Given the description of an element on the screen output the (x, y) to click on. 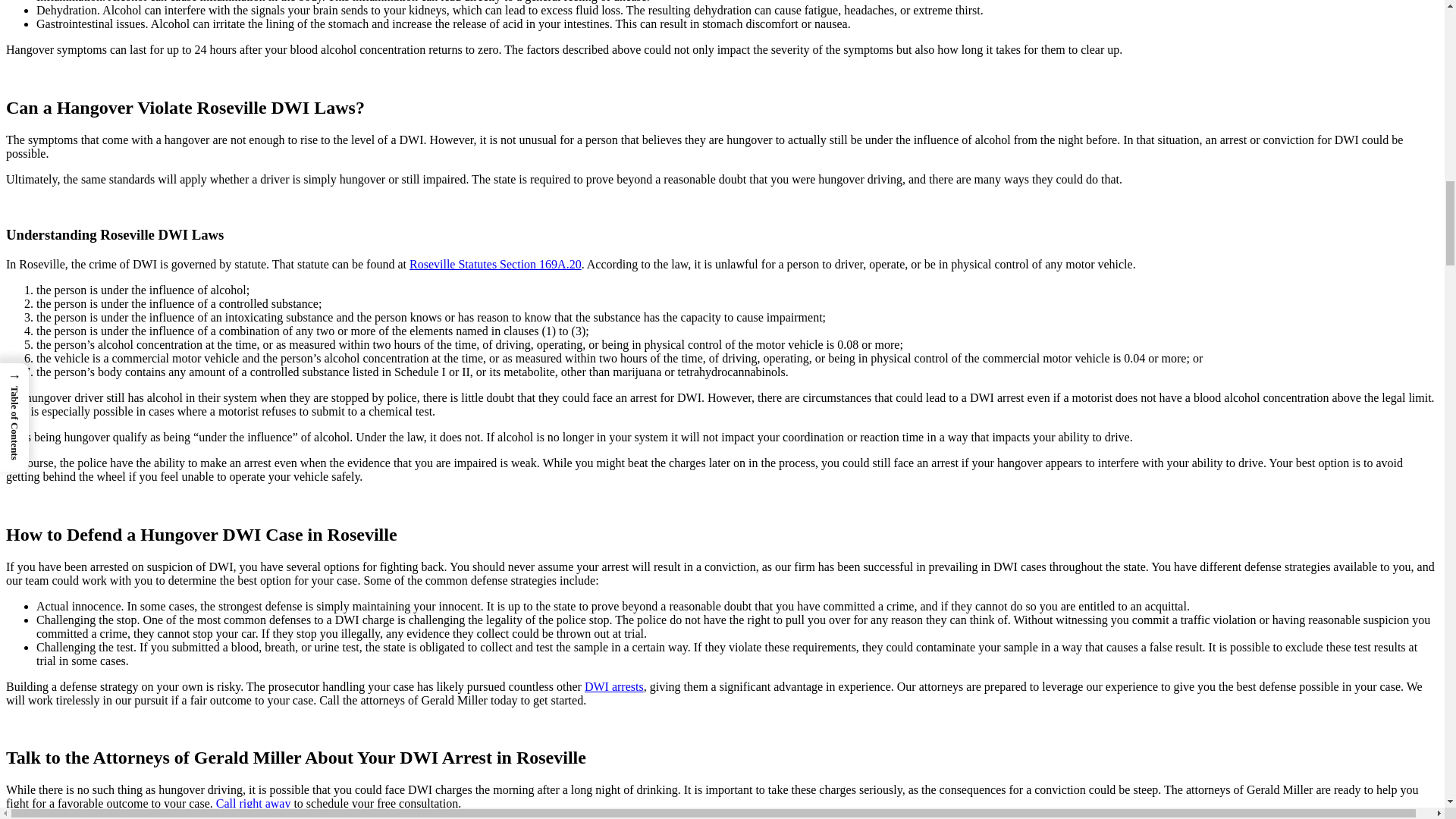
DWI arrests (614, 685)
Call right away (253, 802)
Roseville Statutes Section 169A.20 (494, 264)
